Given the description of an element on the screen output the (x, y) to click on. 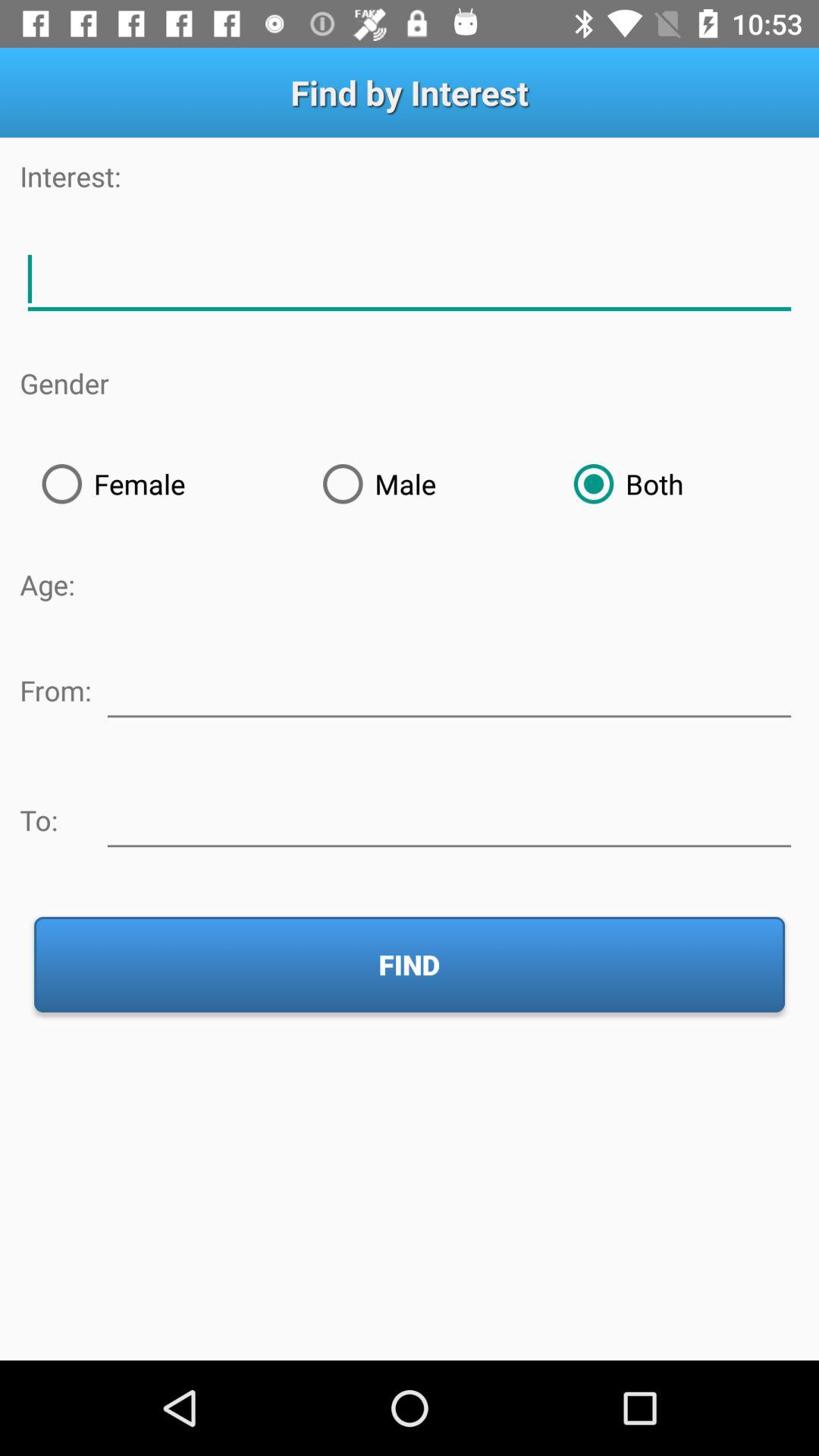
choose the item next to male radio button (674, 483)
